Given the description of an element on the screen output the (x, y) to click on. 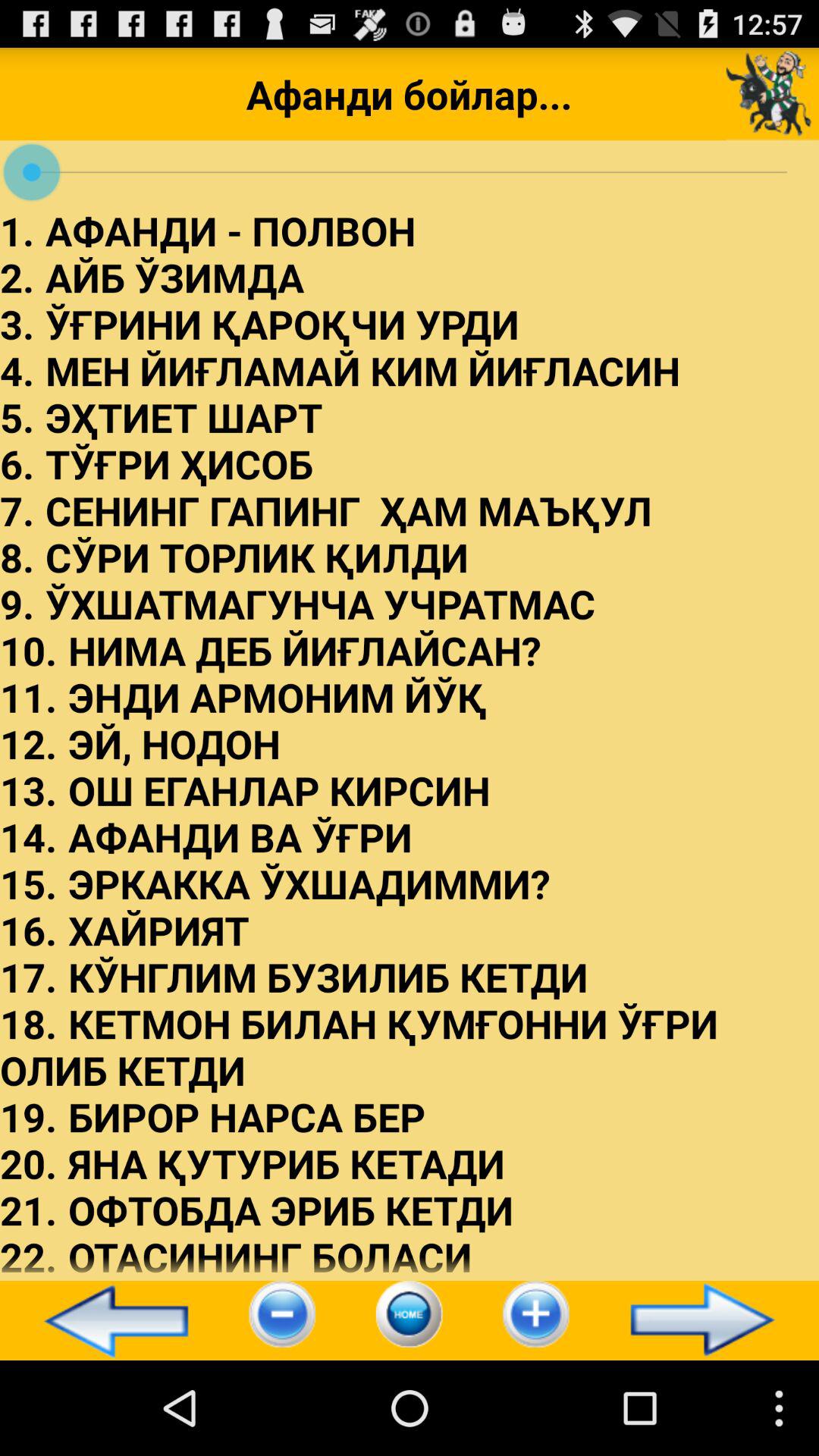
turn on the icon at the bottom right corner (709, 1320)
